Given the description of an element on the screen output the (x, y) to click on. 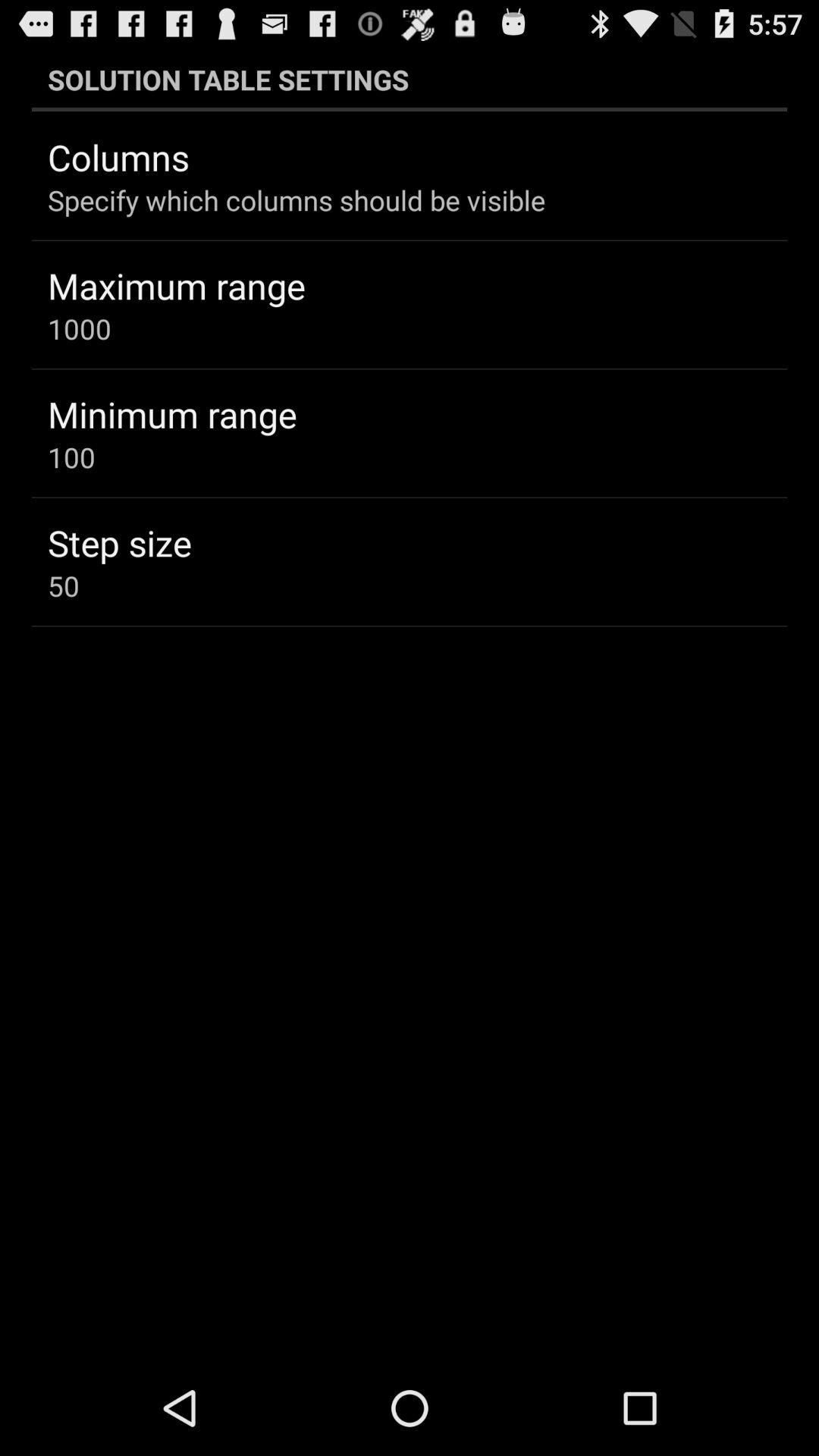
click the 100 item (71, 457)
